Given the description of an element on the screen output the (x, y) to click on. 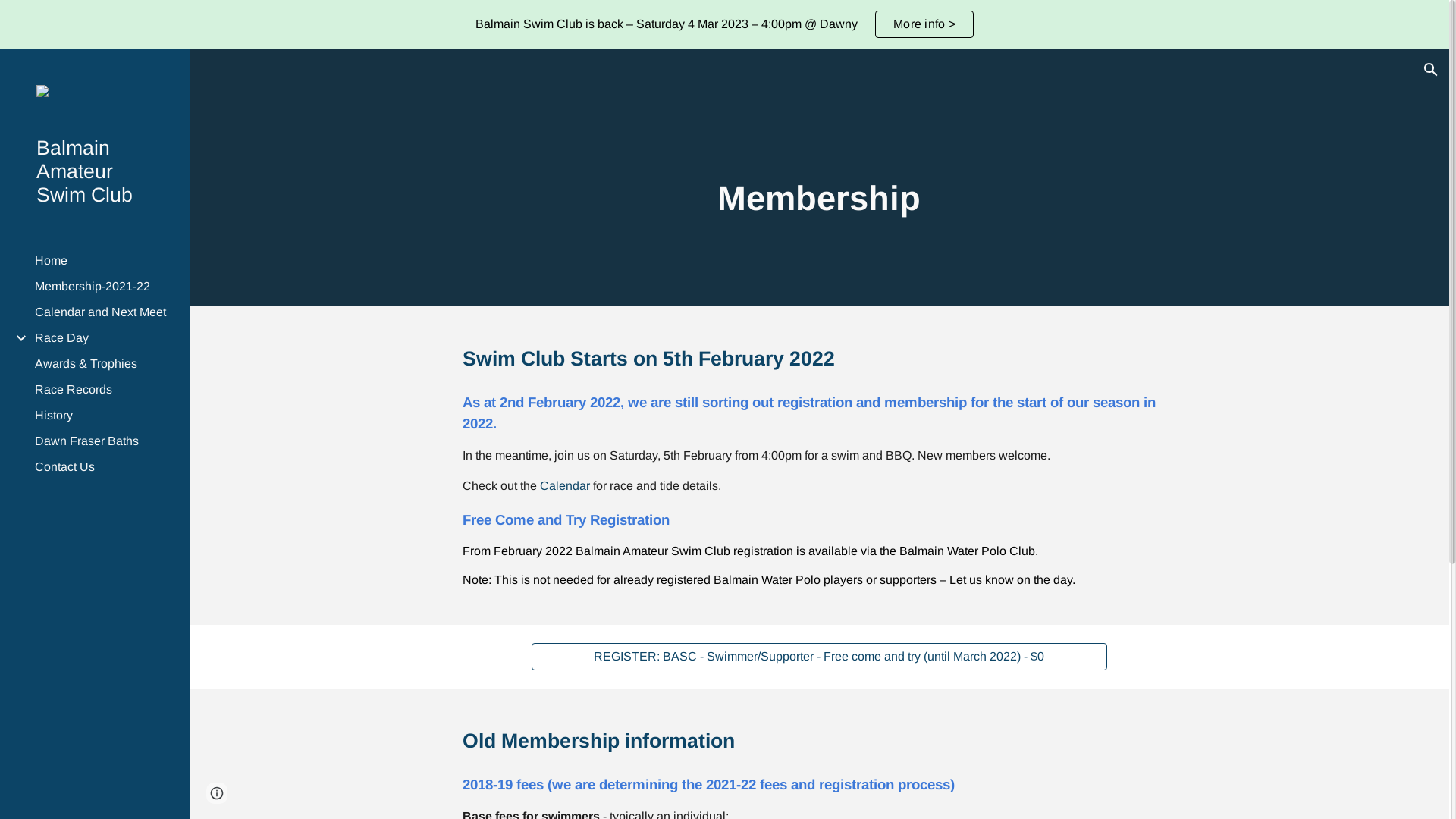
Expand/Collapse Element type: hover (16, 338)
History Element type: text (102, 415)
Calendar and Next Meet Element type: text (102, 312)
Race Records Element type: text (102, 389)
Membership-2021-22 Element type: text (102, 286)
More info > Element type: text (923, 24)
Home Element type: text (102, 260)
Awards & Trophies Element type: text (102, 363)
Dawn Fraser Baths Element type: text (102, 441)
Race Day Element type: text (102, 338)
Calendar Element type: text (564, 485)
Contact Us Element type: text (102, 466)
Balmain Amateur Swim Club Element type: text (100, 171)
